Given the description of an element on the screen output the (x, y) to click on. 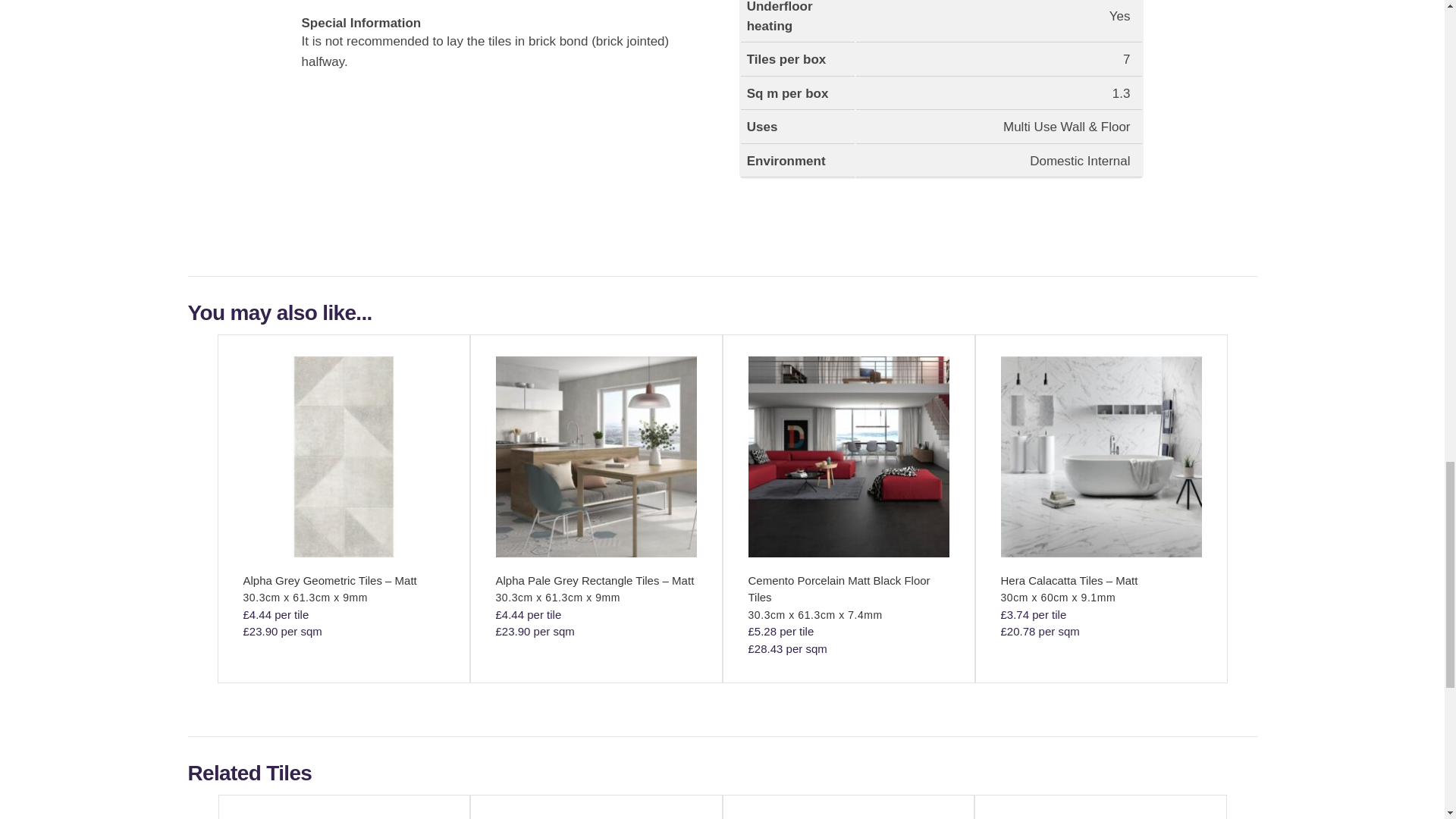
White Tiles (343, 818)
